Given the description of an element on the screen output the (x, y) to click on. 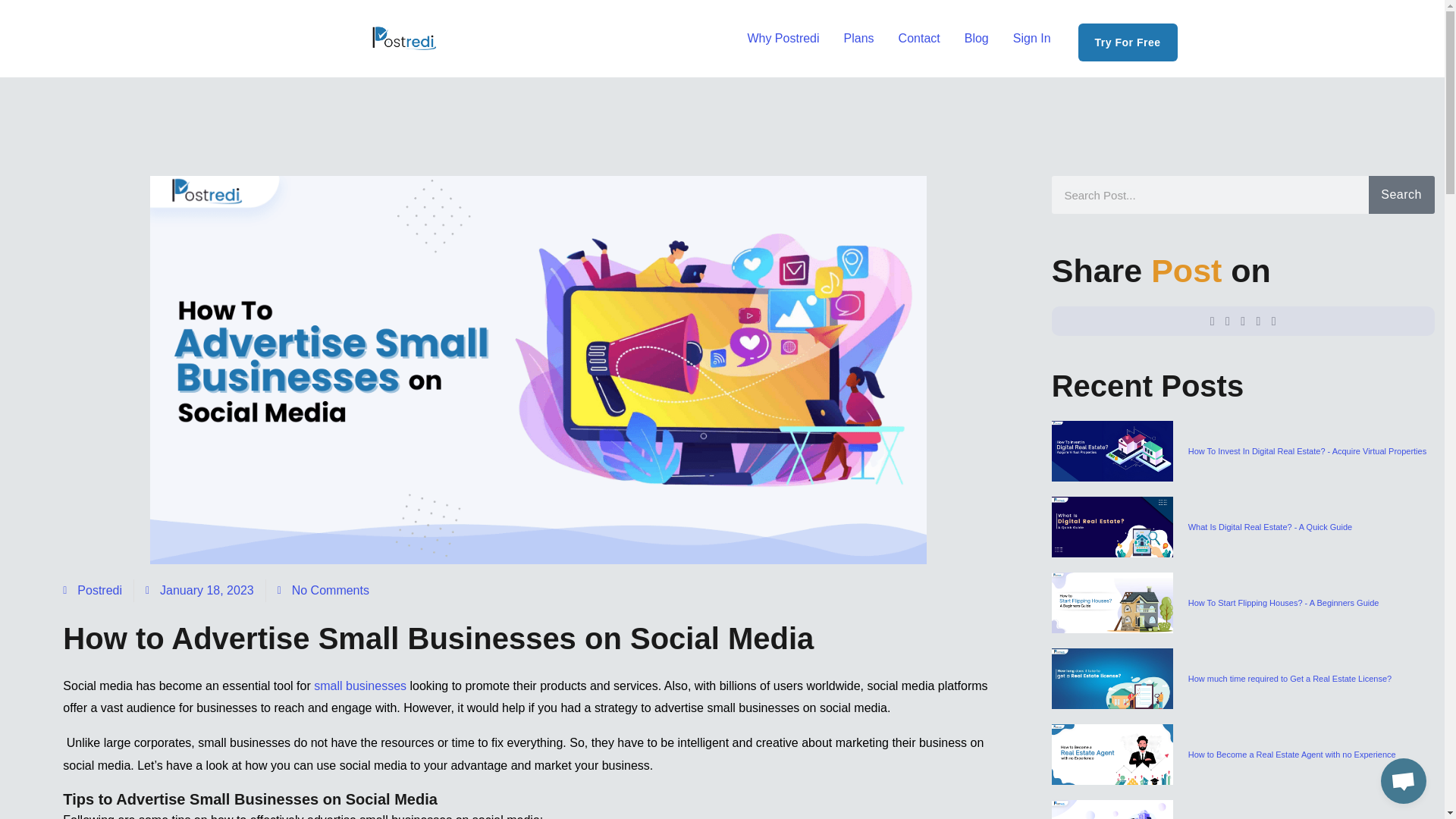
Postredi (92, 590)
Try For Free (1127, 42)
Why Postredi (783, 38)
Plans (858, 38)
Contact (919, 38)
January 18, 2023 (199, 590)
No Comments (323, 590)
small businesses (360, 685)
Sign In (1031, 38)
Blog (976, 38)
